Given the description of an element on the screen output the (x, y) to click on. 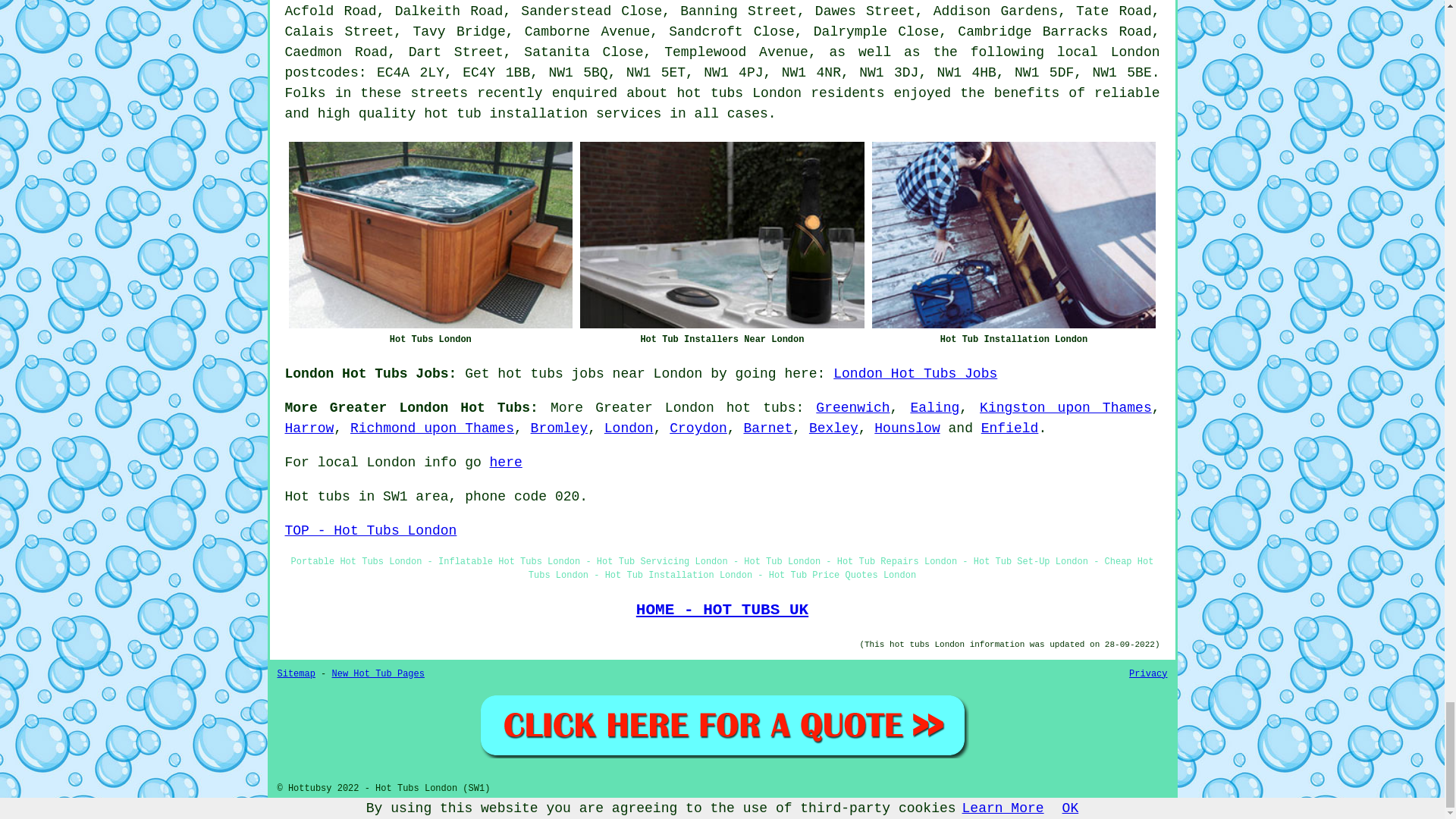
Hot Tub Installation London UK (1014, 234)
Hot Tubs London (430, 234)
Hot Tub Installers Near Me London (721, 234)
